Given the description of an element on the screen output the (x, y) to click on. 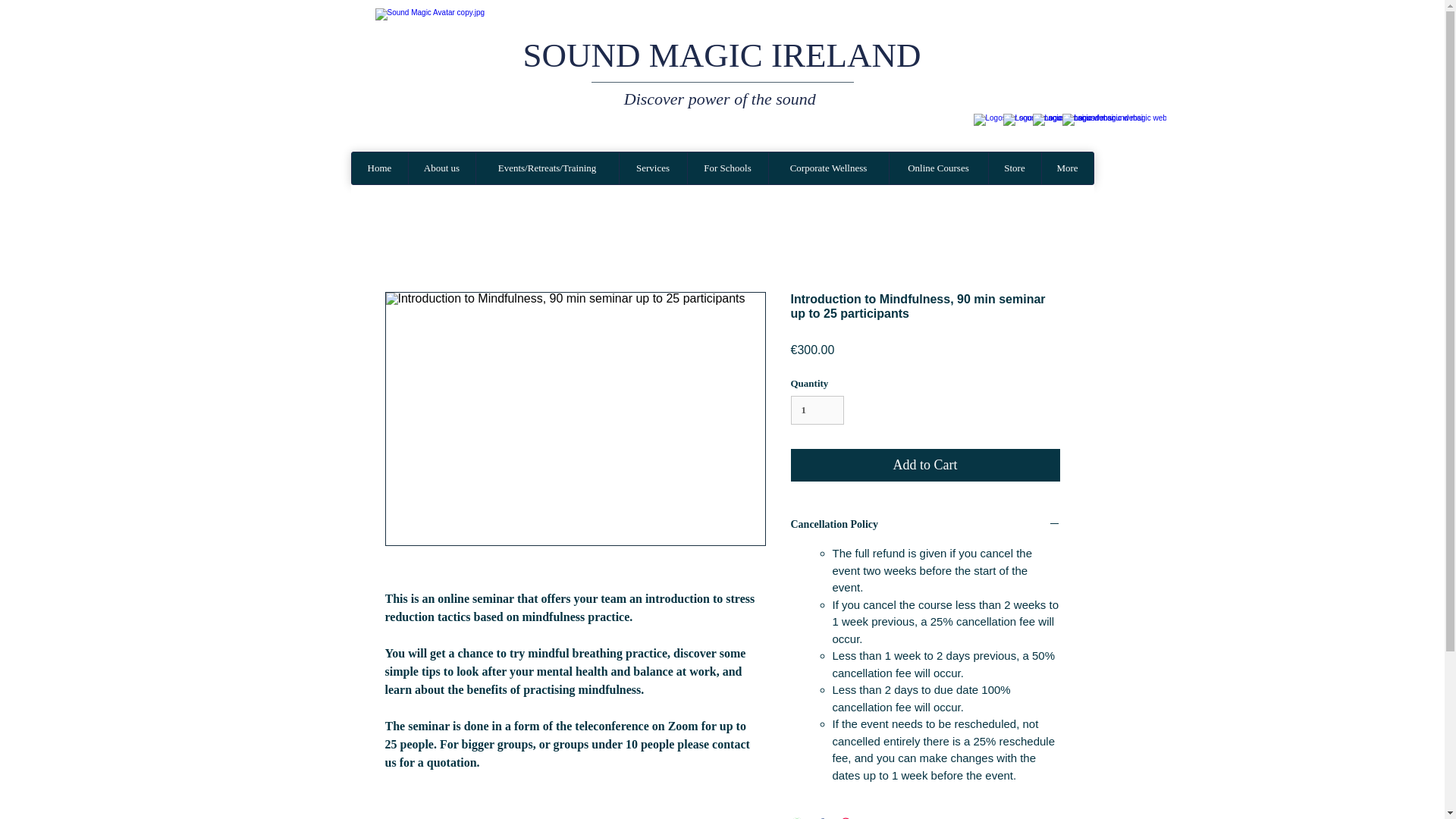
Services (652, 168)
Store (1014, 168)
For Schools (727, 168)
Cancellation Policy (924, 524)
About us (441, 168)
Online Courses (938, 168)
1 (817, 410)
Corporate Wellness (827, 168)
Add to Cart (924, 464)
Home (379, 168)
